Given the description of an element on the screen output the (x, y) to click on. 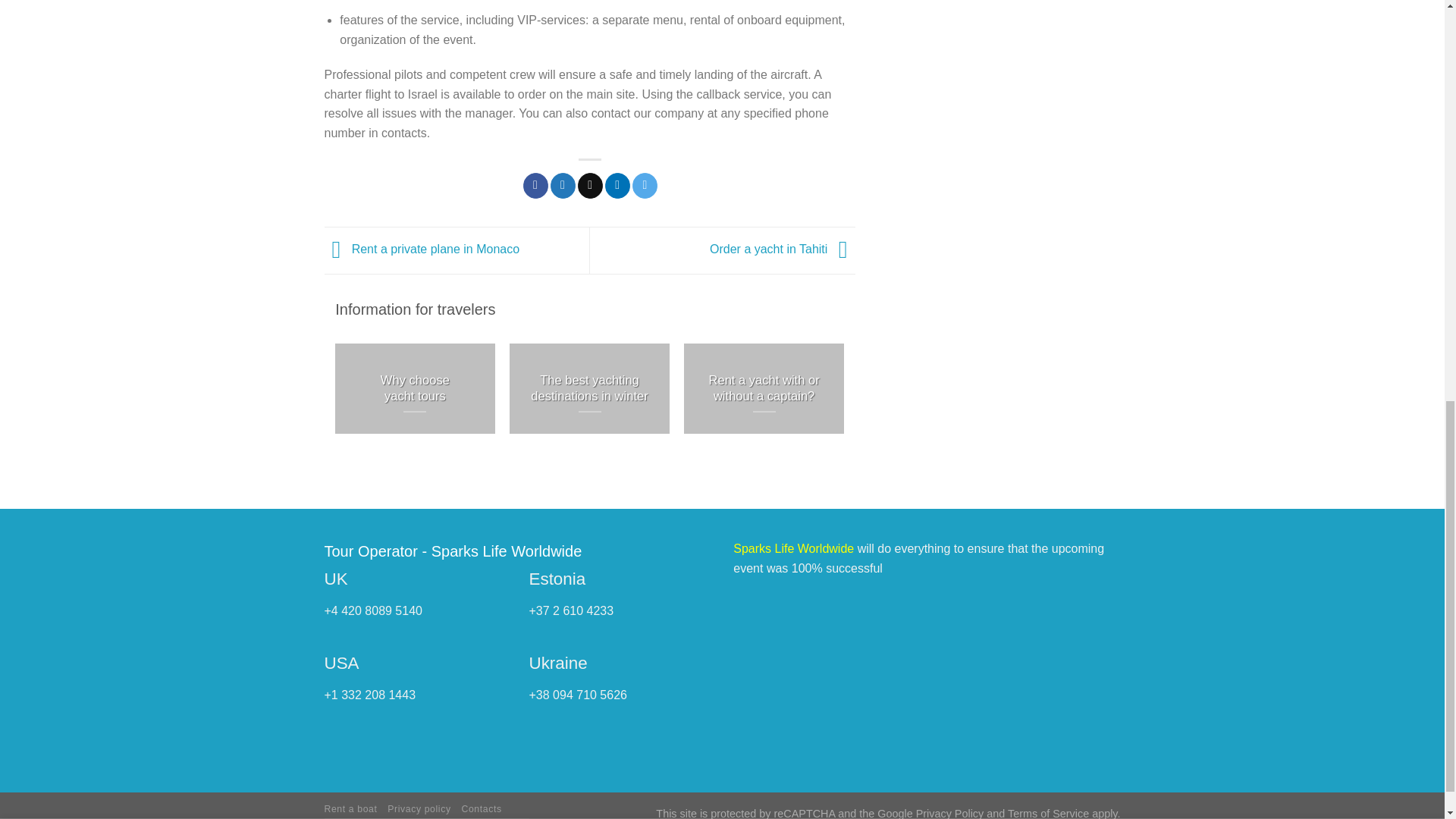
Email to a Friend (590, 185)
Share on Twitter (562, 185)
Share on Facebook (535, 185)
Share on LinkedIn (617, 185)
Why choose yacht tours - 2 - Sparks Life Worldwide (414, 388)
Share on Telegram (644, 185)
